Given the description of an element on the screen output the (x, y) to click on. 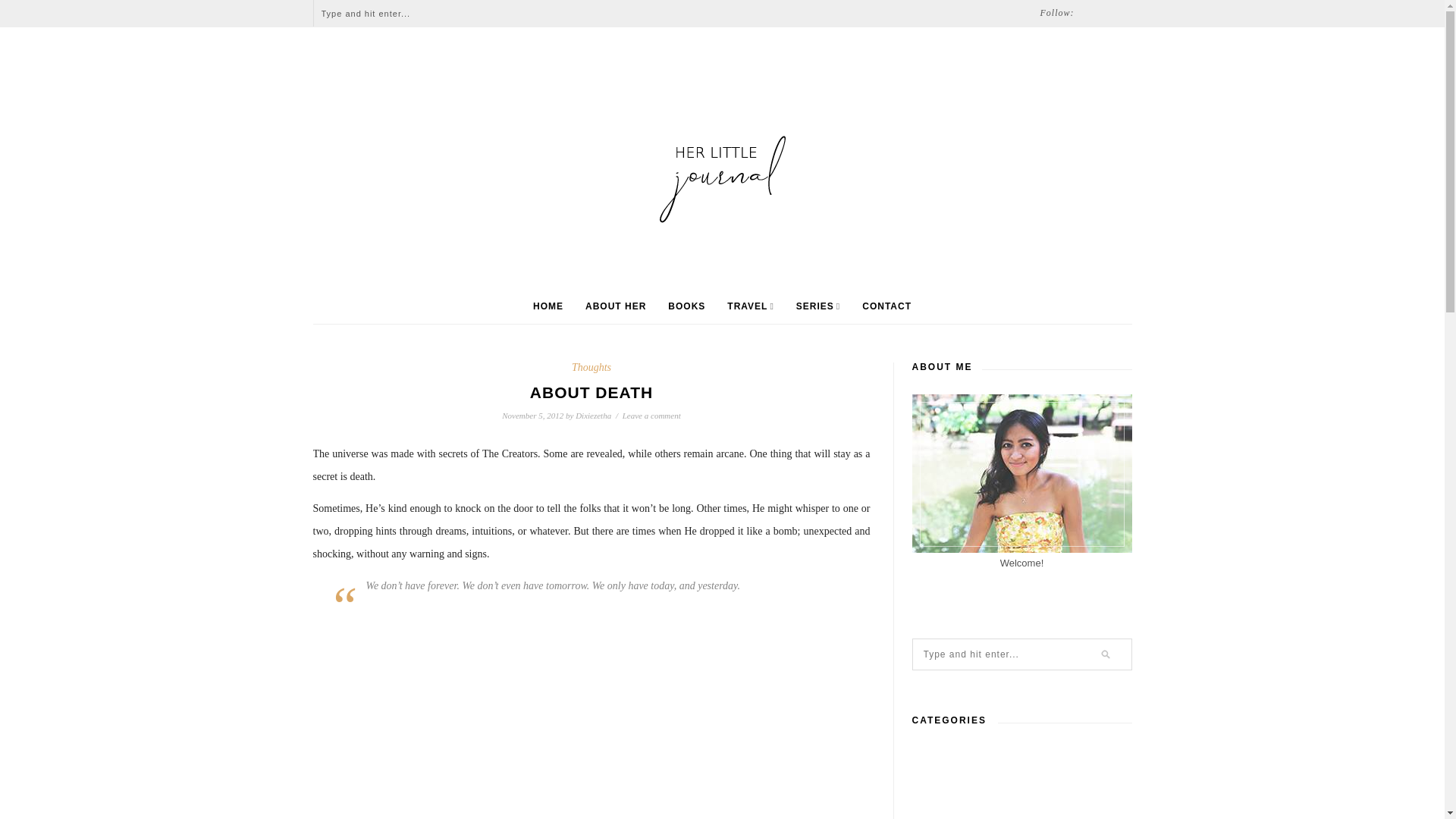
TRAVEL (750, 306)
BOOKS (686, 306)
SERIES (818, 306)
CONTACT (886, 306)
Posts by Dixiezetha (593, 415)
ABOUT HER (615, 306)
